Given the description of an element on the screen output the (x, y) to click on. 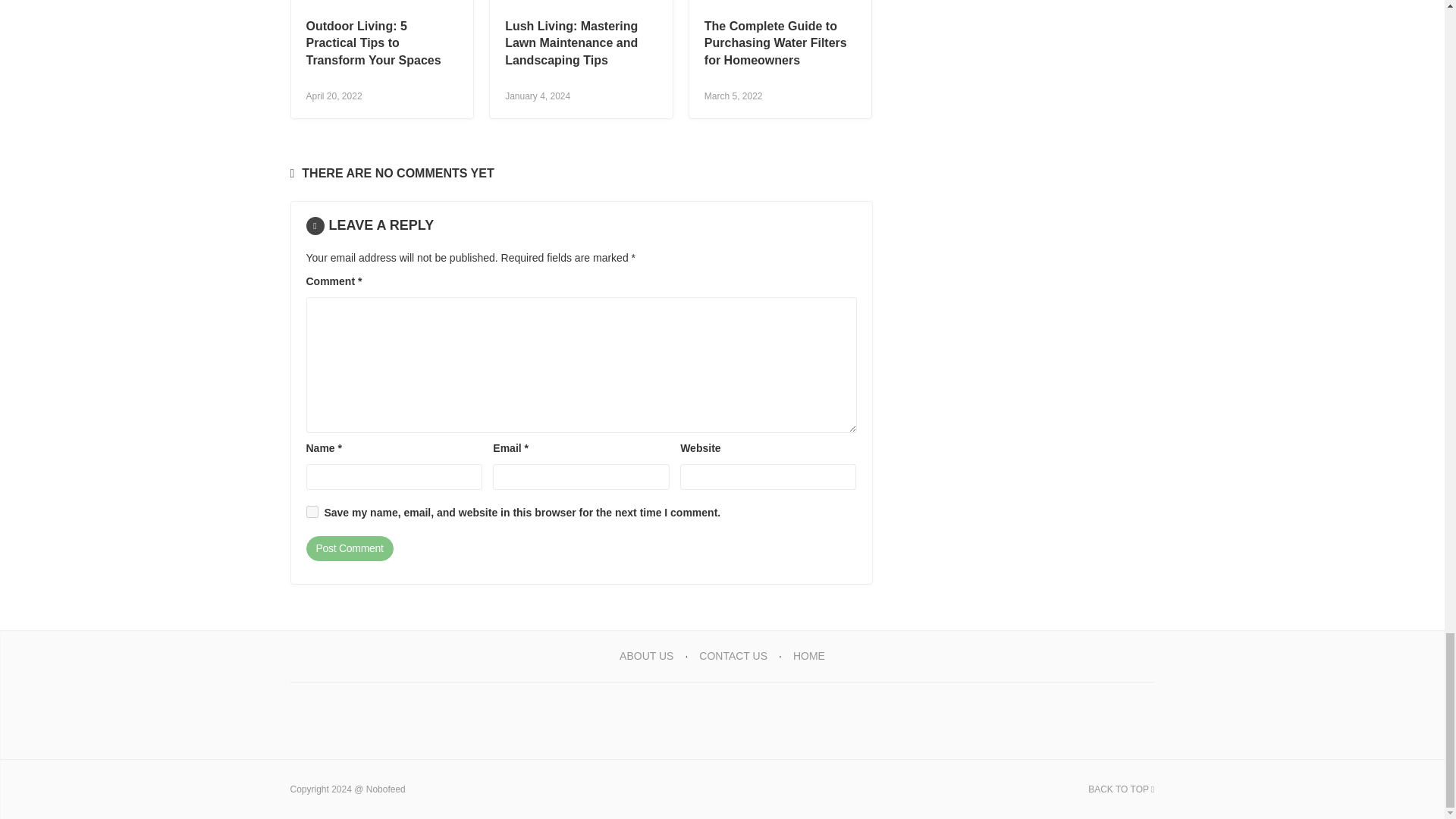
yes (311, 511)
Post Comment (349, 548)
BACK TO TOP  (1120, 789)
